Given the description of an element on the screen output the (x, y) to click on. 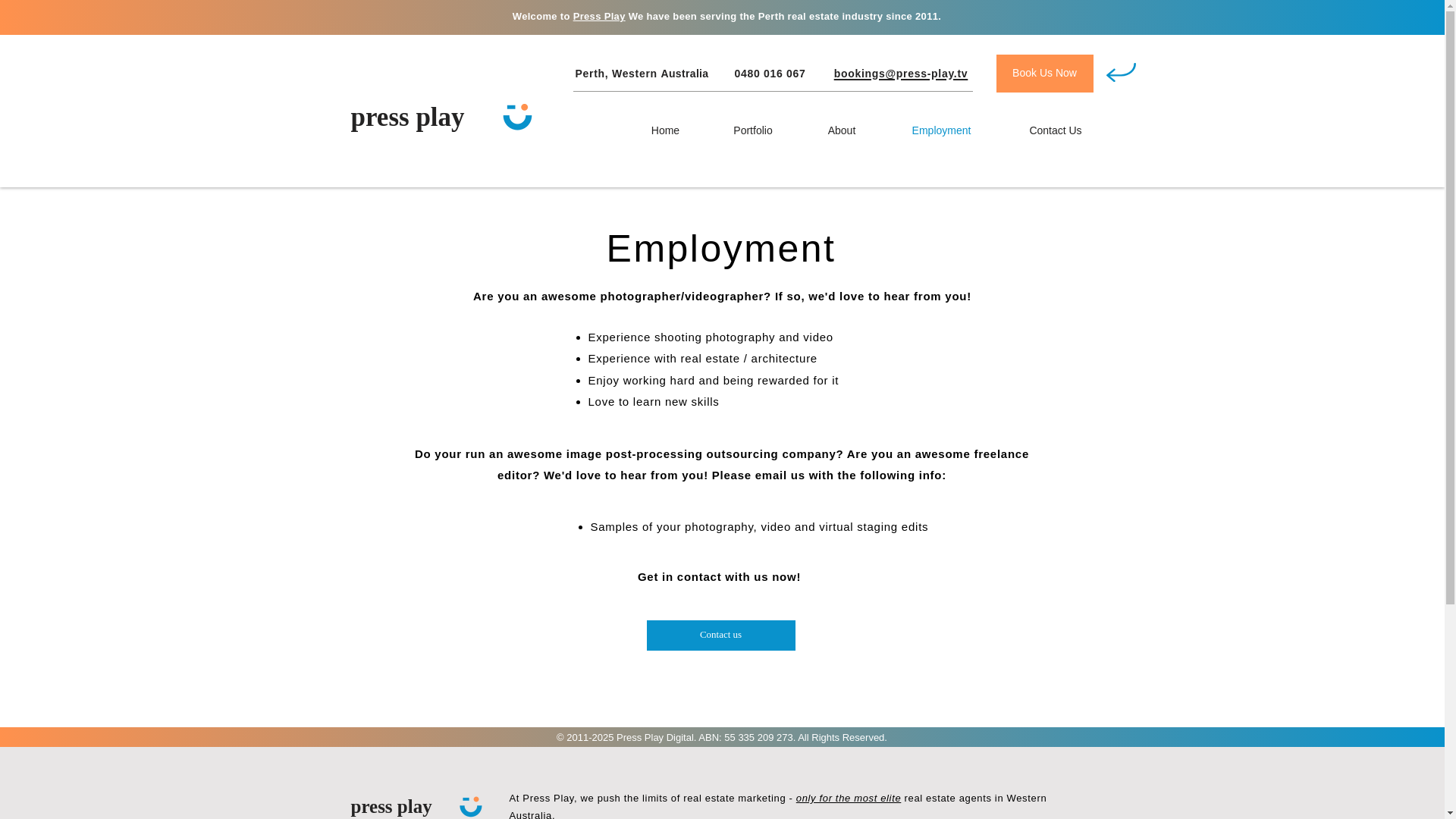
press play logo 2019a small.png (470, 807)
press play logo 2019a small.png (516, 117)
0480 016 067 (769, 73)
Employment (941, 130)
About (841, 130)
Book Us Now (1044, 73)
Contact us (720, 634)
press play (390, 805)
Contact Us (1055, 130)
press play (407, 116)
Home (665, 130)
